Given the description of an element on the screen output the (x, y) to click on. 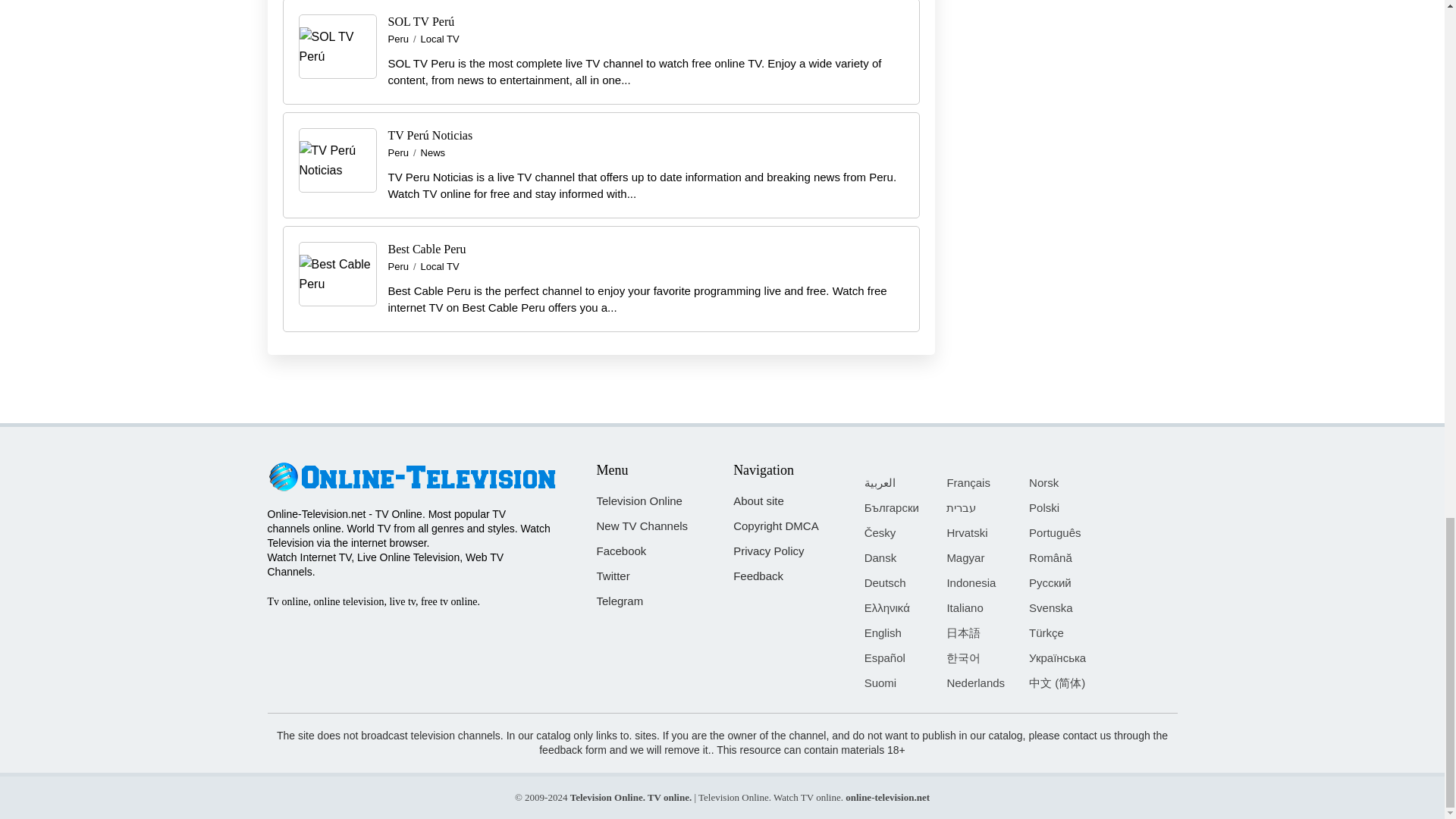
Local TV (440, 39)
News (432, 152)
Best Cable Peru (426, 248)
Peru (398, 266)
Peru (398, 152)
Local TV (440, 266)
Best Cable Peru (336, 274)
Peru (398, 39)
